Given the description of an element on the screen output the (x, y) to click on. 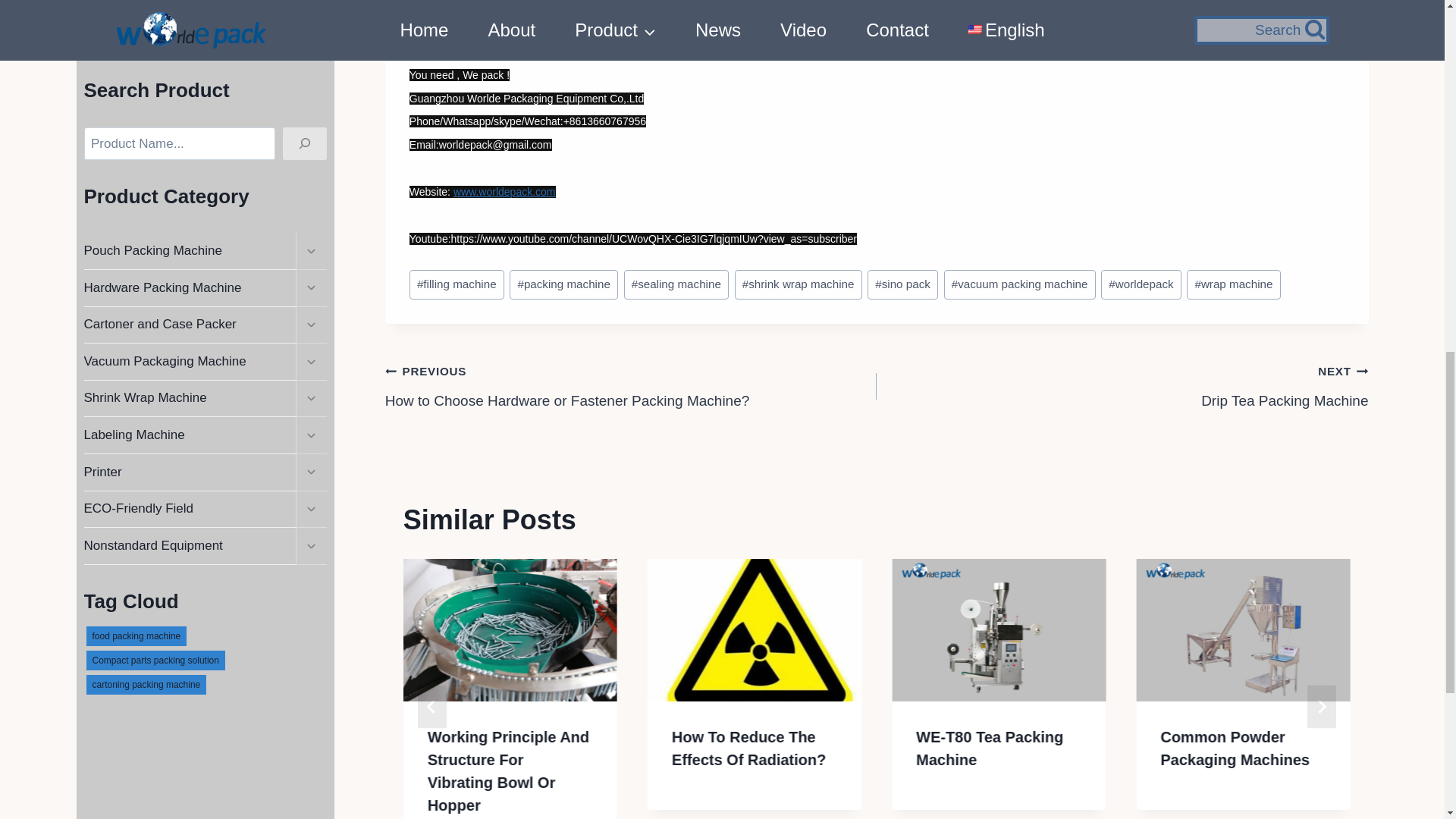
packing machine (563, 284)
shrink wrap machine (798, 284)
sino pack (902, 284)
vacuum packing machine (1019, 284)
wrap machine (1232, 284)
filling machine (456, 284)
sealing machine (676, 284)
worldepack (1140, 284)
